Given the description of an element on the screen output the (x, y) to click on. 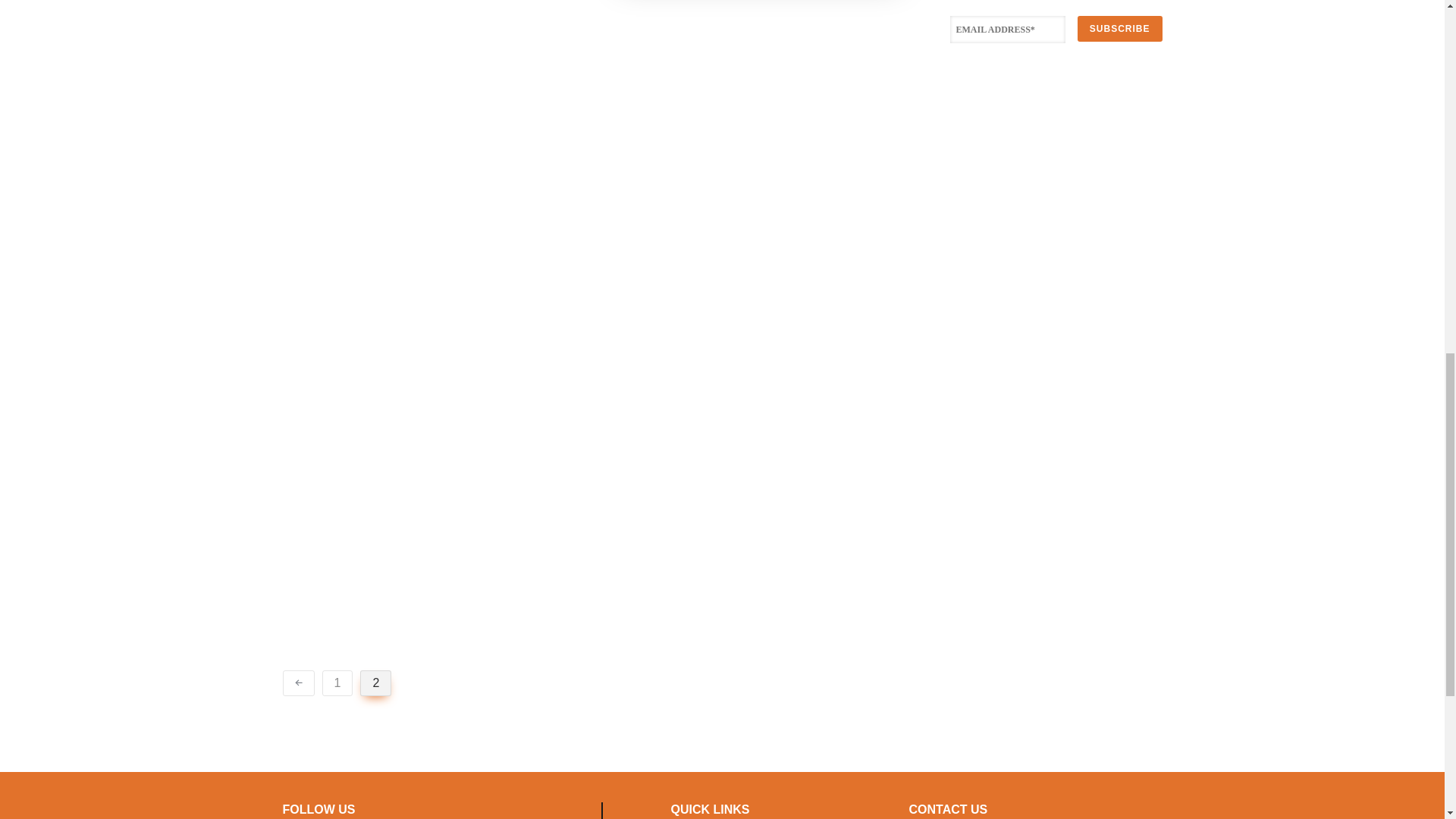
SUBSCRIBE (1119, 27)
SUBSCRIBE (1119, 27)
1 (336, 683)
